Given the description of an element on the screen output the (x, y) to click on. 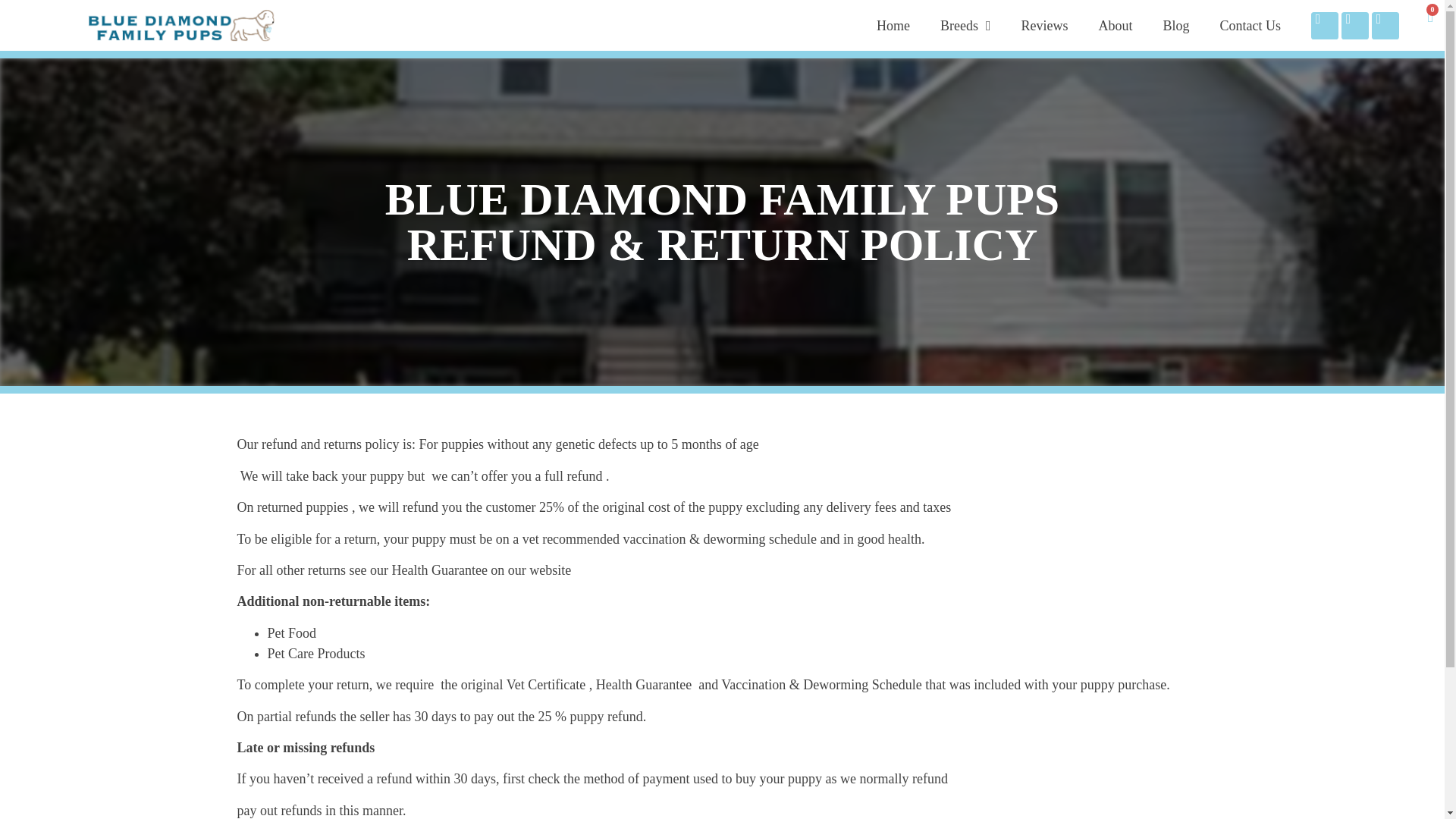
Contact Us (1249, 25)
Blue-Diamond-Family-Pups-Logo - Blue Diamond Family Pups (181, 25)
Blog (1175, 25)
Reviews (1044, 25)
Breeds (965, 25)
About (1115, 25)
Home (892, 25)
